Given the description of an element on the screen output the (x, y) to click on. 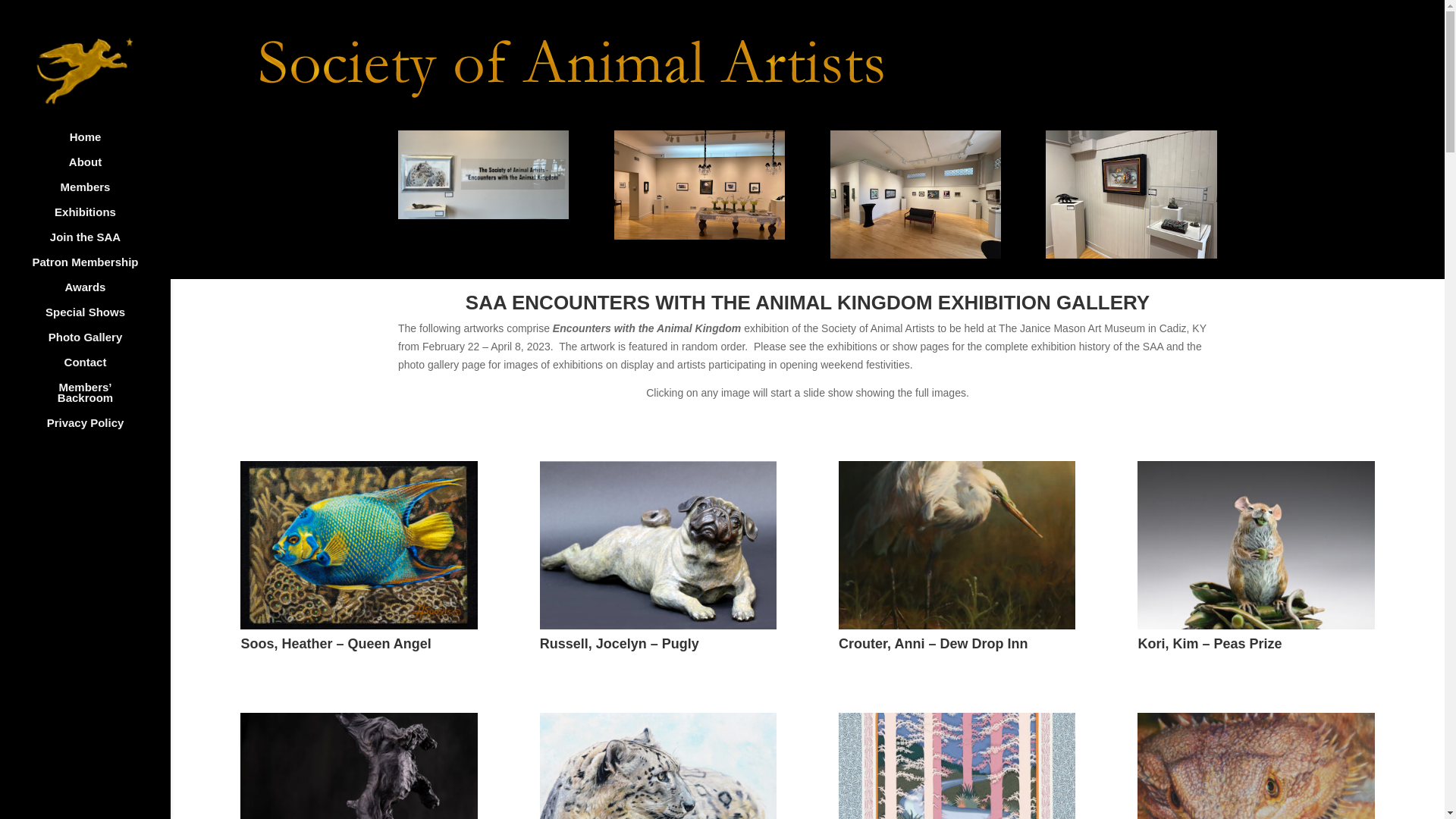
JMAM - 4 (483, 174)
About (100, 169)
JMAM - 1 (699, 184)
Special Shows (100, 319)
Home (100, 144)
Awards (100, 294)
Photo Gallery (100, 344)
Privacy Policy (100, 430)
JMAM - 2 (915, 194)
Contact (100, 369)
JMAM - 3 (1130, 194)
Exhibitions (100, 219)
Join the SAA (100, 244)
Members (100, 194)
Patron Membership (100, 269)
